Given the description of an element on the screen output the (x, y) to click on. 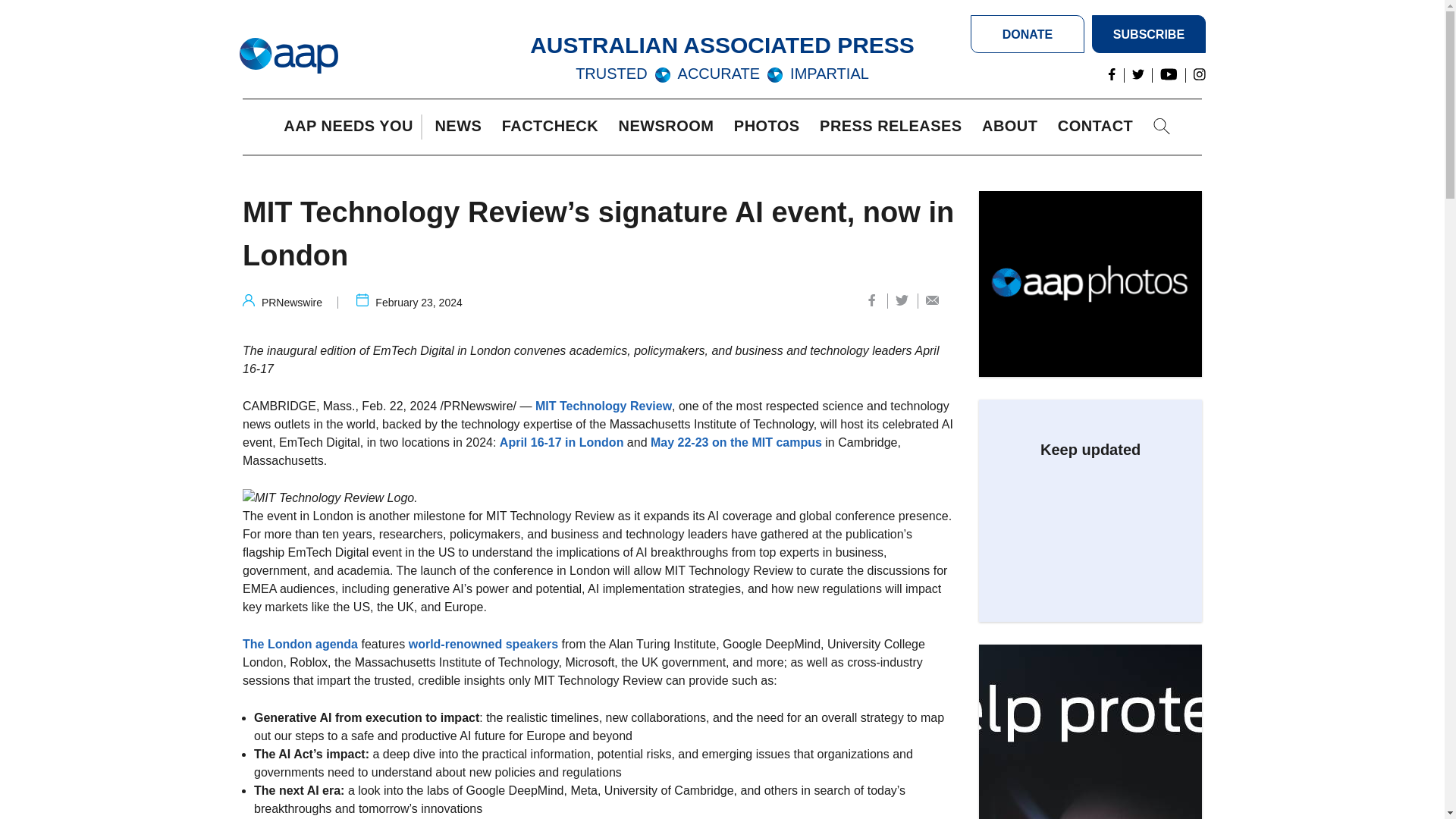
SUBSCRIBE (1148, 34)
NEWS (461, 126)
CONTACT (1099, 126)
Form 0 (1090, 525)
PHOTOS (770, 126)
DONATE (1027, 34)
MIT Technology Review Logo. (330, 497)
FACTCHECK (553, 126)
AUSTRALIAN ASSOCIATED PRESS (721, 44)
PRESS RELEASES (894, 126)
AAP NEEDS YOU (351, 126)
Home (288, 56)
NEWSROOM (670, 126)
ABOUT (1013, 126)
